Given the description of an element on the screen output the (x, y) to click on. 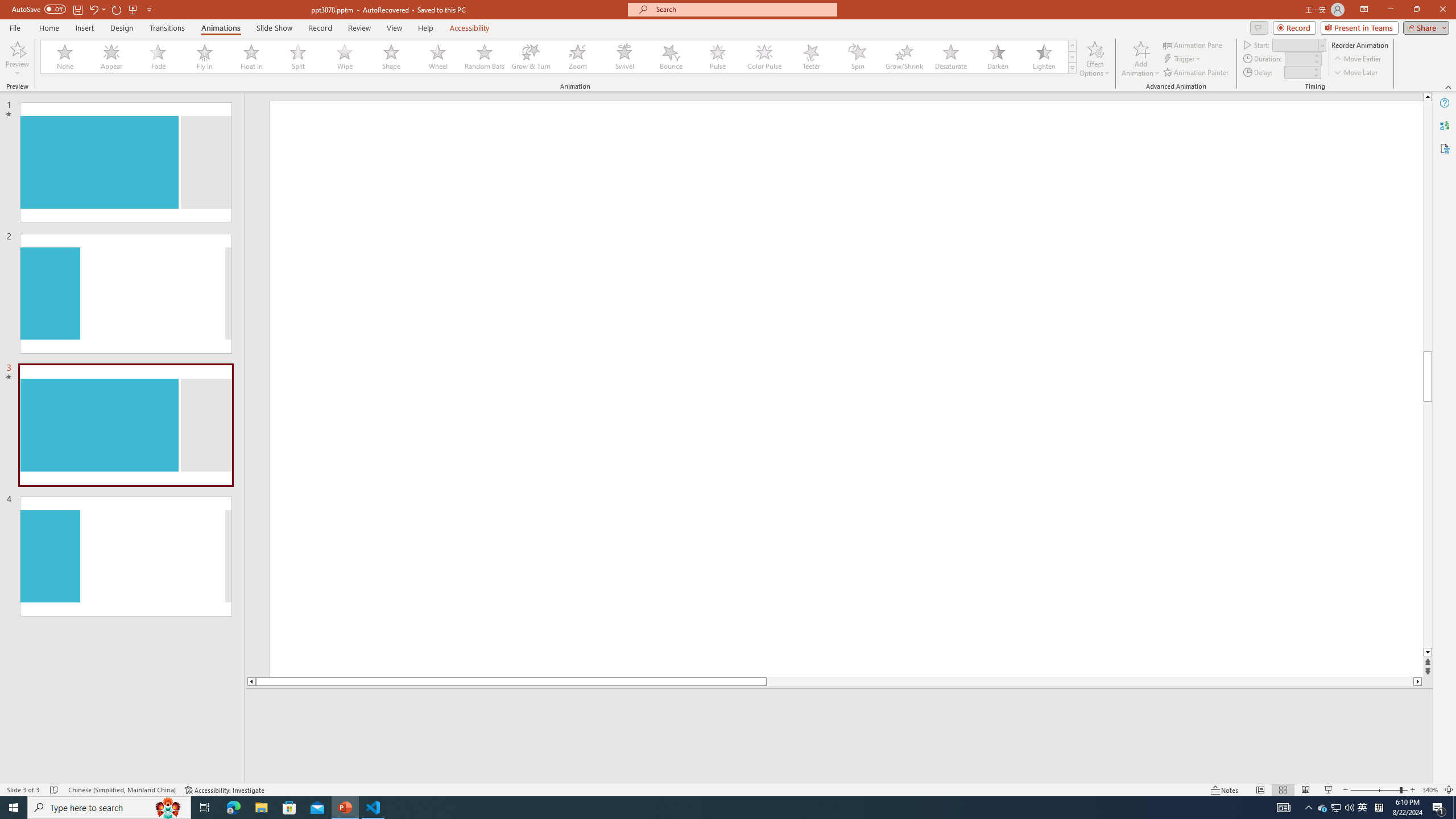
Wipe (344, 56)
Darken (997, 56)
Split (298, 56)
Swivel (624, 56)
Grow & Turn (531, 56)
